Given the description of an element on the screen output the (x, y) to click on. 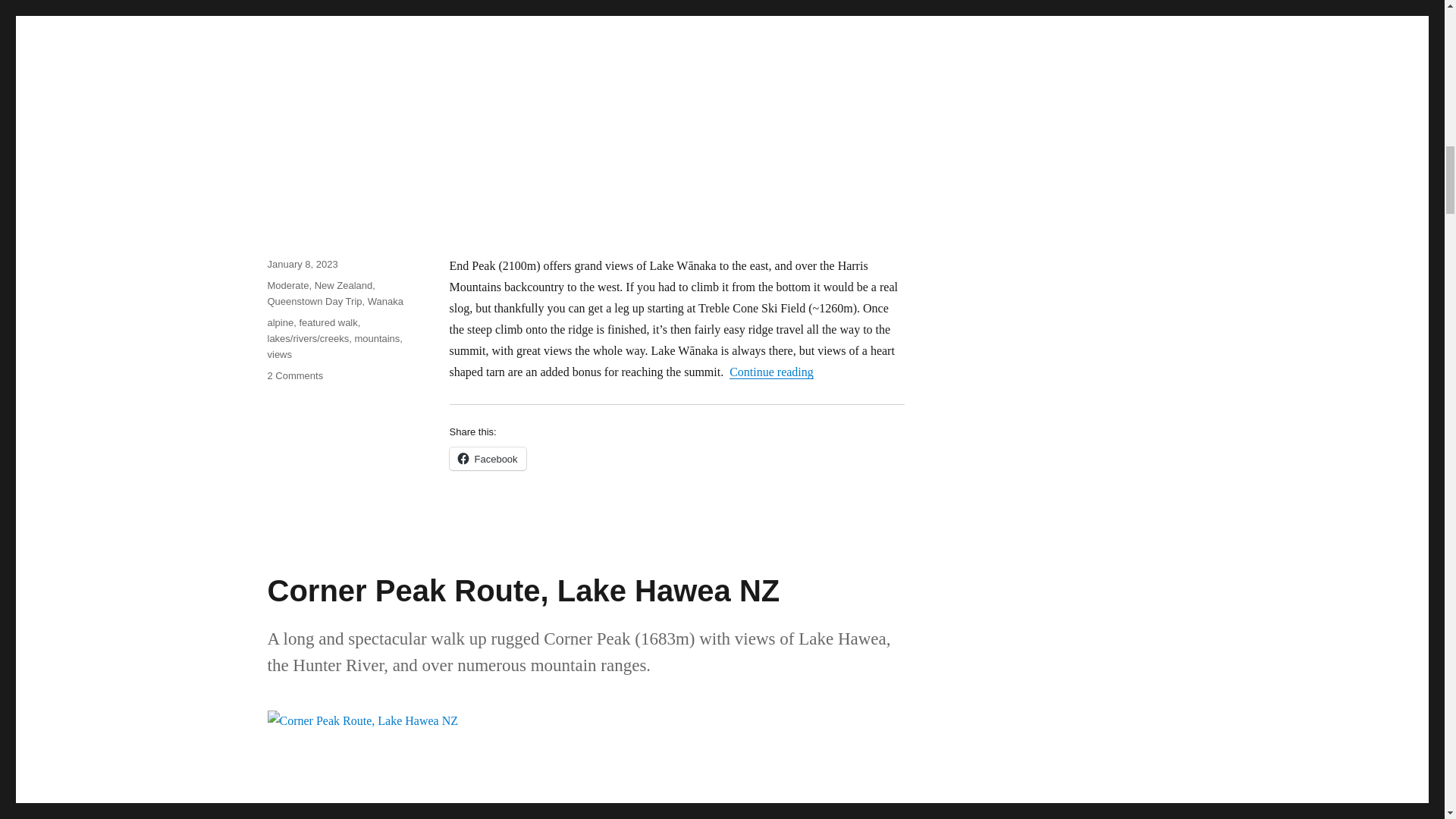
Click to share on Facebook (486, 458)
